Given the description of an element on the screen output the (x, y) to click on. 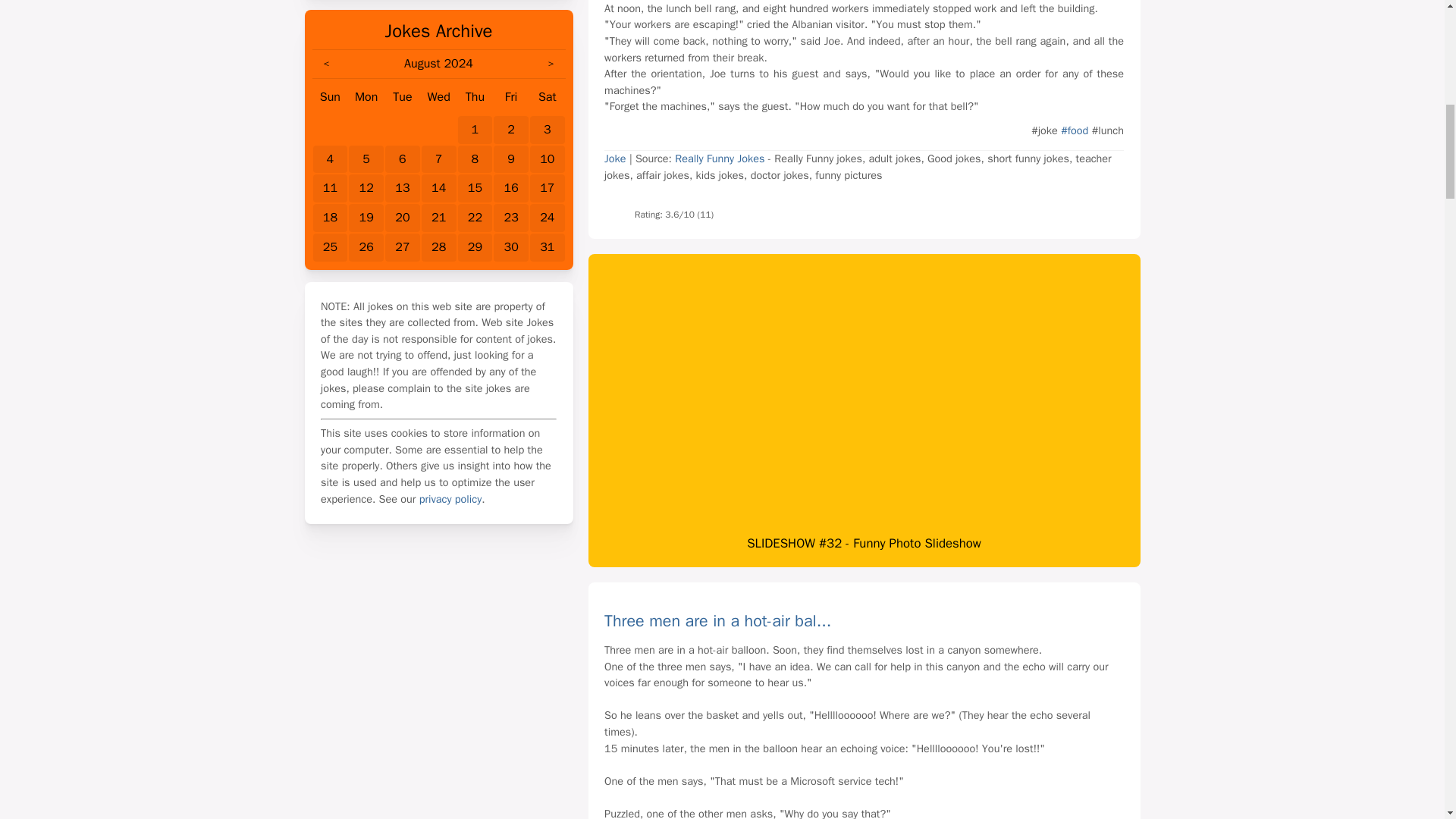
Really Funny Jokes (719, 158)
Joke (615, 158)
